Given the description of an element on the screen output the (x, y) to click on. 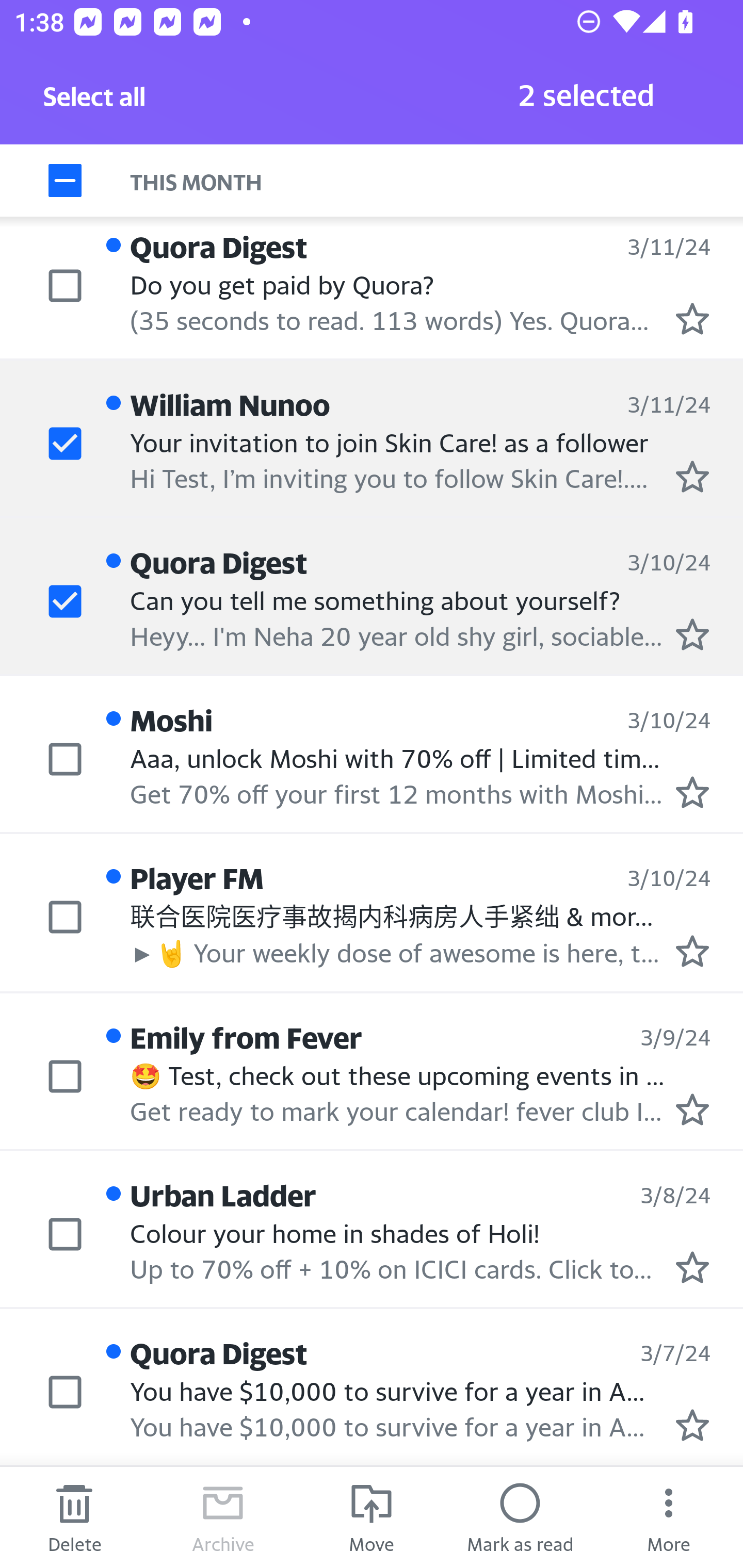
Select all (94, 101)
Mark as starred. (692, 319)
Mark as starred. (692, 475)
Mark as starred. (692, 634)
Mark as starred. (692, 792)
Mark as starred. (692, 950)
Mark as starred. (692, 1109)
Mark as starred. (692, 1267)
Mark as starred. (692, 1424)
Delete (74, 1517)
Archive (222, 1517)
Move (371, 1517)
Mark as read (519, 1517)
More (668, 1517)
